Given the description of an element on the screen output the (x, y) to click on. 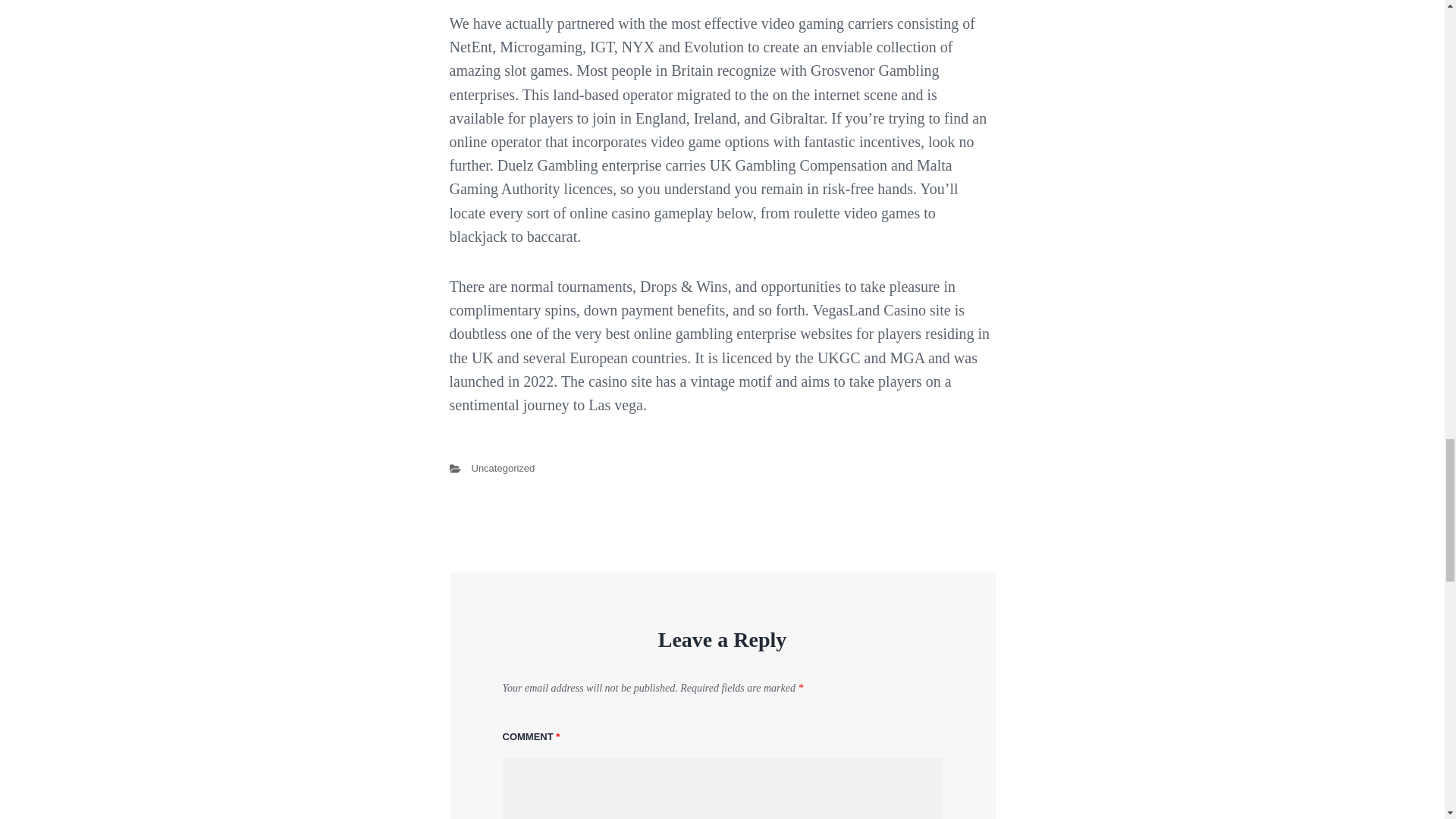
Uncategorized (503, 468)
